Given the description of an element on the screen output the (x, y) to click on. 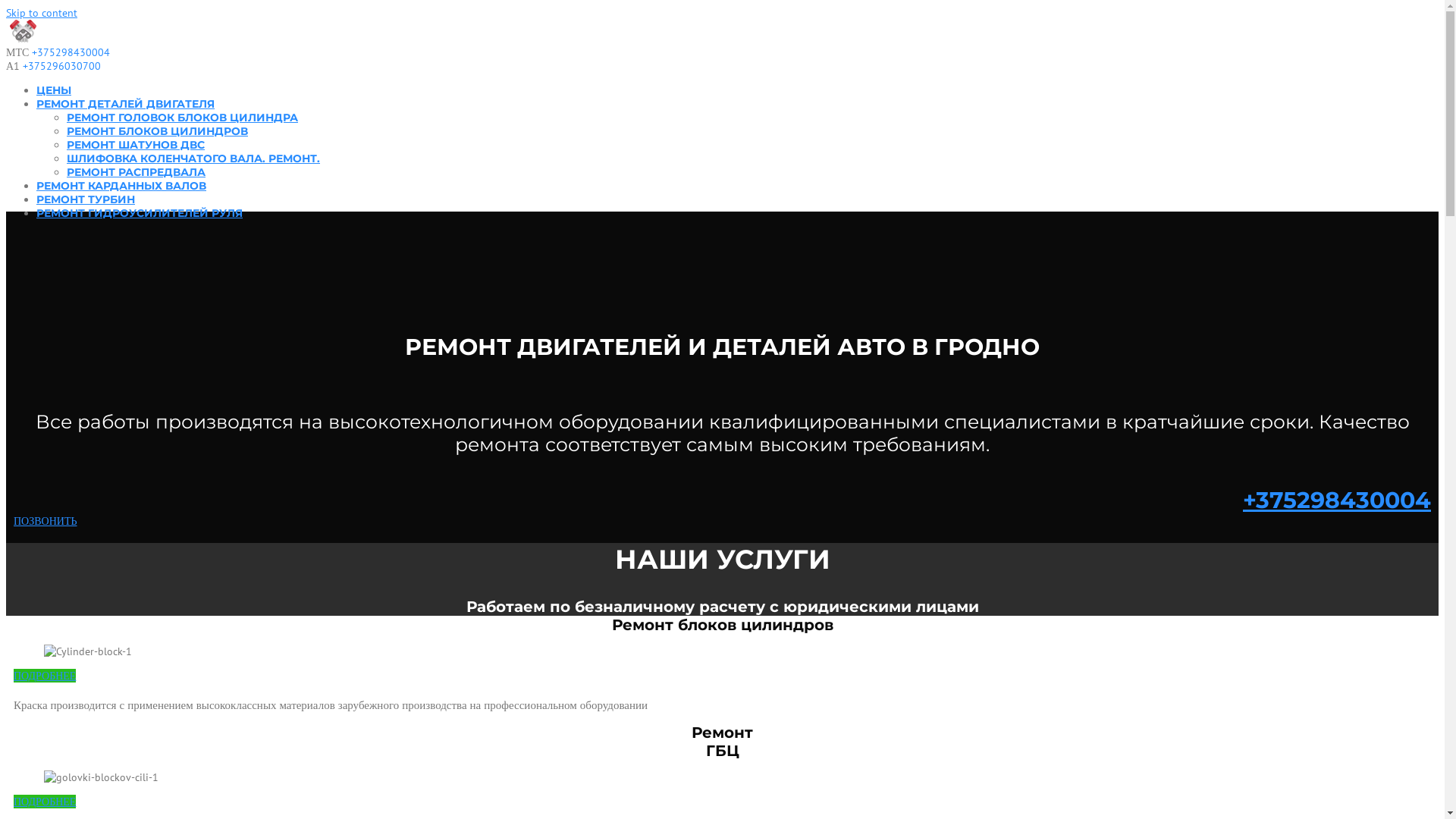
Skip to content Element type: text (41, 12)
Cylinder-block-1 Element type: hover (87, 651)
golovki-blockov-cili-1 Element type: hover (100, 777)
+375298430004 Element type: text (1336, 500)
